Given the description of an element on the screen output the (x, y) to click on. 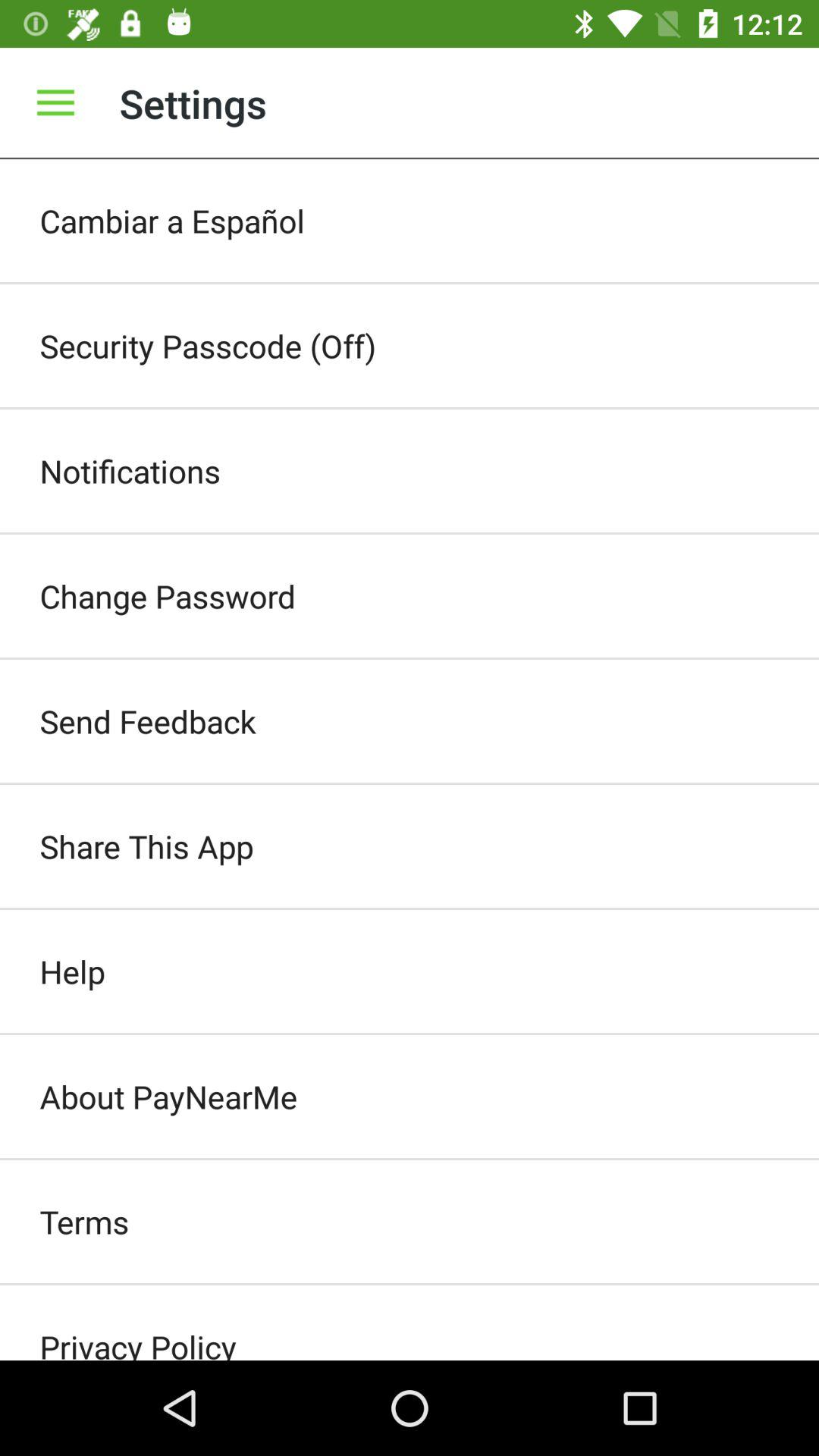
scroll to send feedback icon (409, 720)
